Given the description of an element on the screen output the (x, y) to click on. 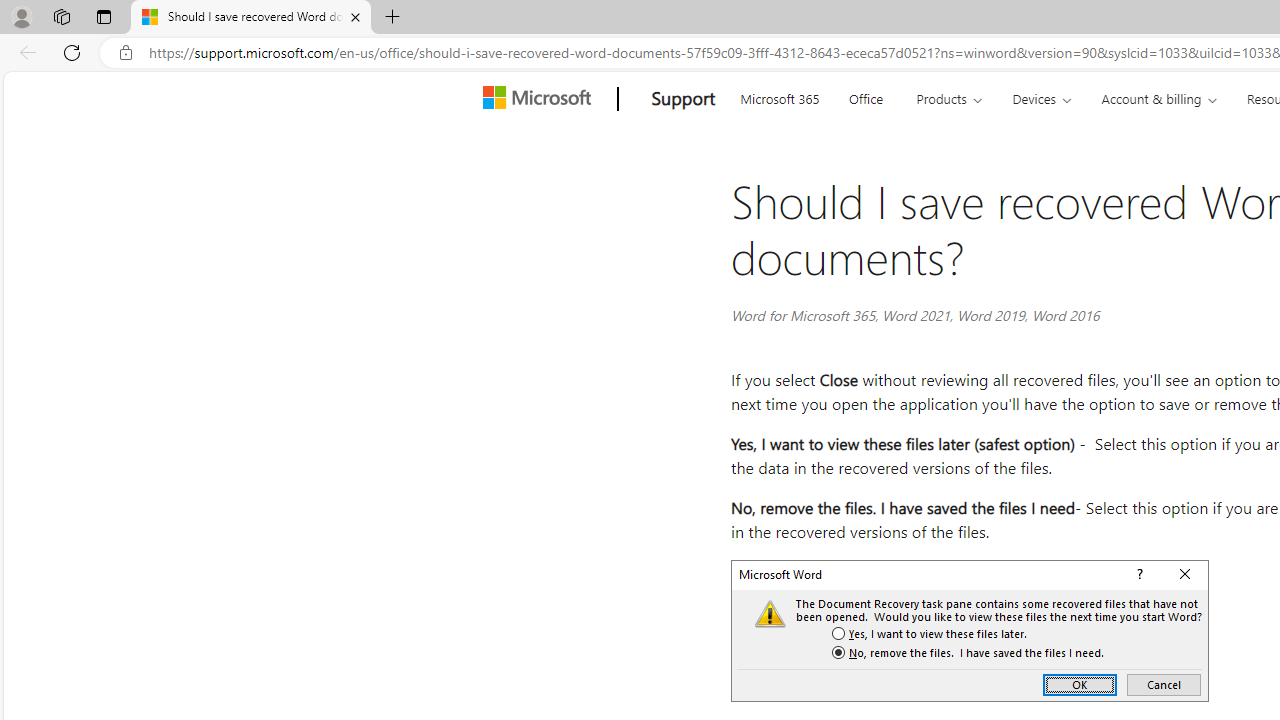
Back (24, 52)
Office (865, 96)
Refresh (72, 52)
Workspaces (61, 16)
Save document recovery dialog (969, 630)
Microsoft 365 (780, 96)
Tab actions menu (104, 16)
Personal Profile (21, 16)
Microsoft 365 (779, 96)
Should I save recovered Word documents? - Microsoft Support (250, 17)
